Given the description of an element on the screen output the (x, y) to click on. 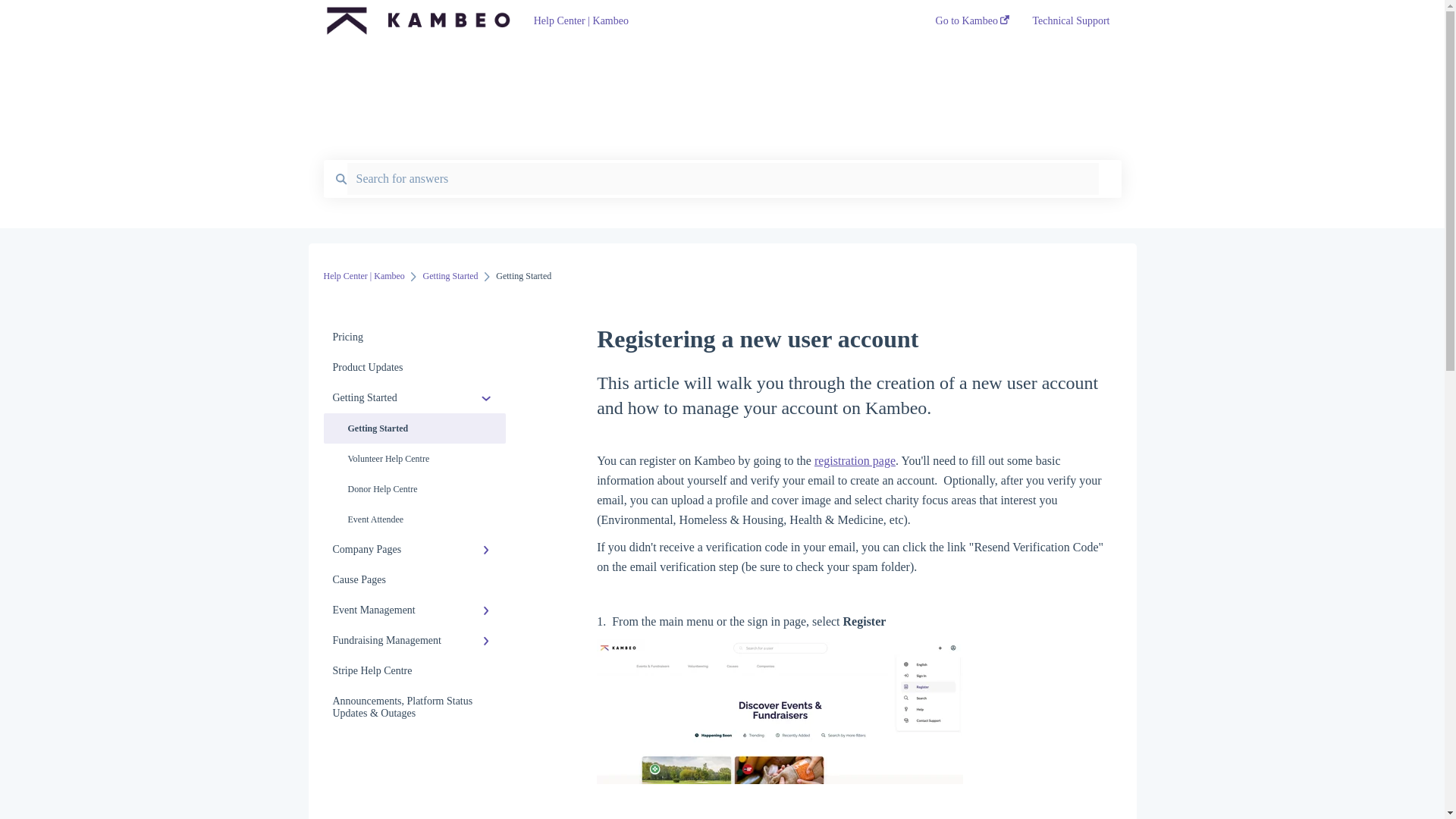
Getting Started (414, 398)
Technical Support (1070, 25)
Product Updates (414, 367)
Getting Started (414, 428)
Volunteer Help Centre (414, 458)
Getting Started (451, 276)
Pricing (414, 337)
Go to Kambeo (973, 25)
